Given the description of an element on the screen output the (x, y) to click on. 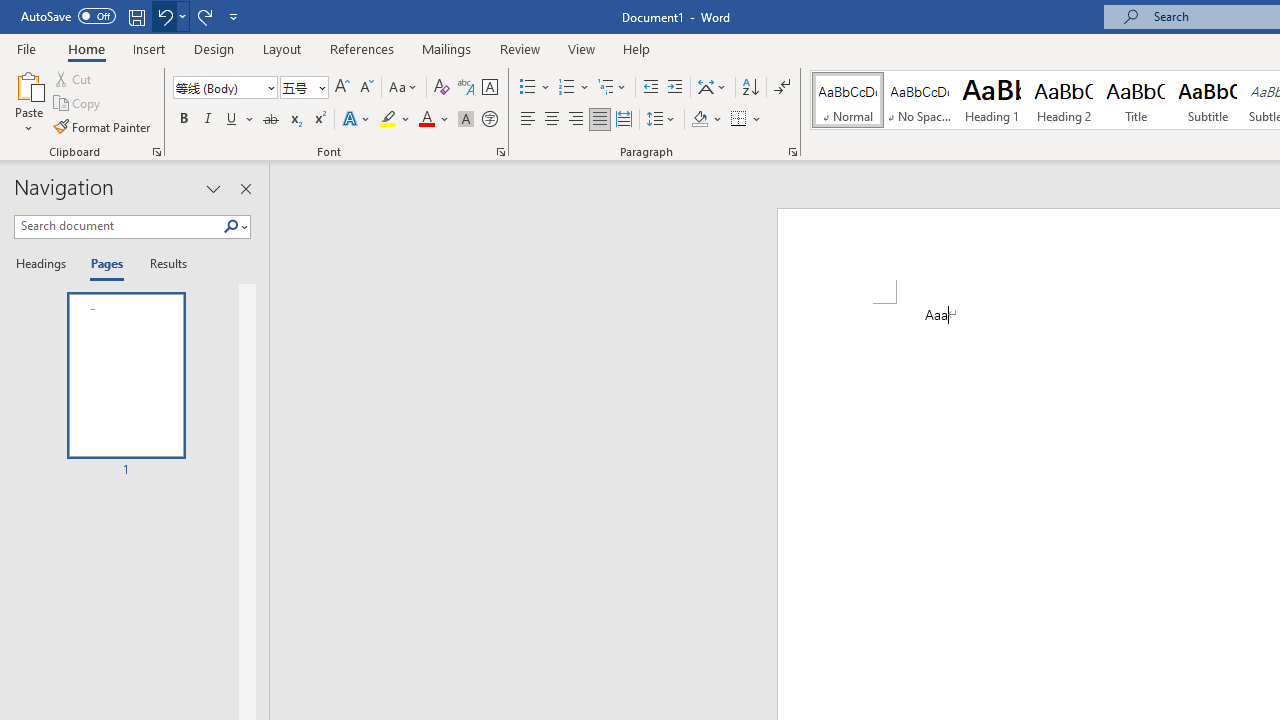
Text Effects and Typography (357, 119)
Character Shading (465, 119)
Format Painter (103, 126)
Phonetic Guide... (465, 87)
Character Border (489, 87)
Undo Increase Indent (164, 15)
